Given the description of an element on the screen output the (x, y) to click on. 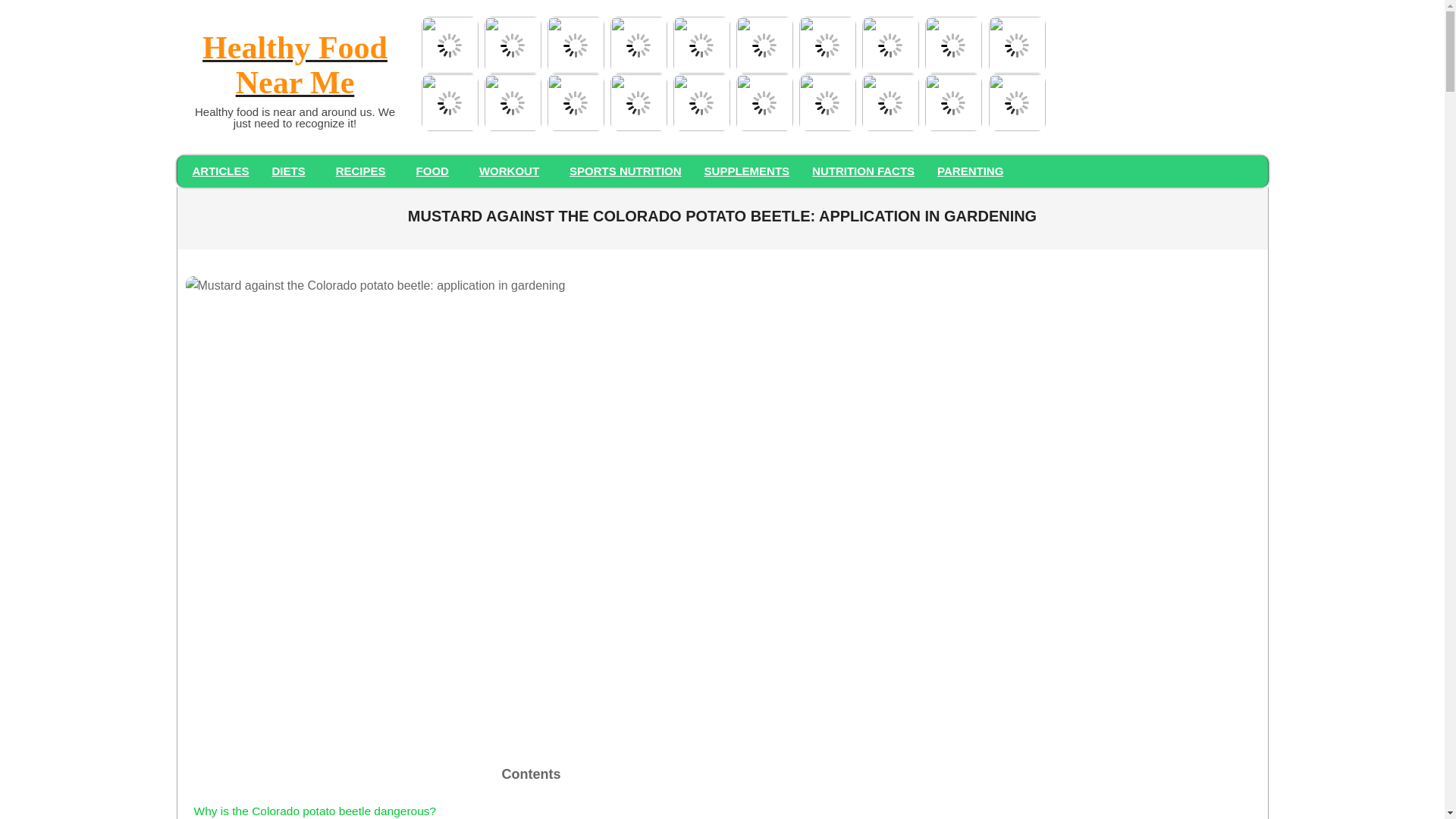
FOOD (435, 171)
Healthy Food Near Me (294, 67)
ARTICLES (220, 171)
RECIPES (364, 171)
DIETS (292, 171)
